Given the description of an element on the screen output the (x, y) to click on. 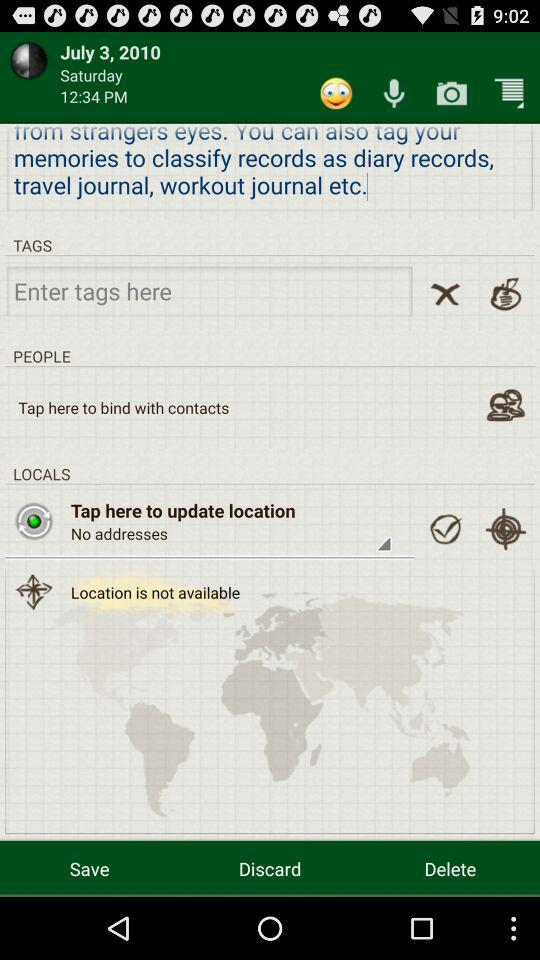
select item above we all are icon (451, 92)
